Given the description of an element on the screen output the (x, y) to click on. 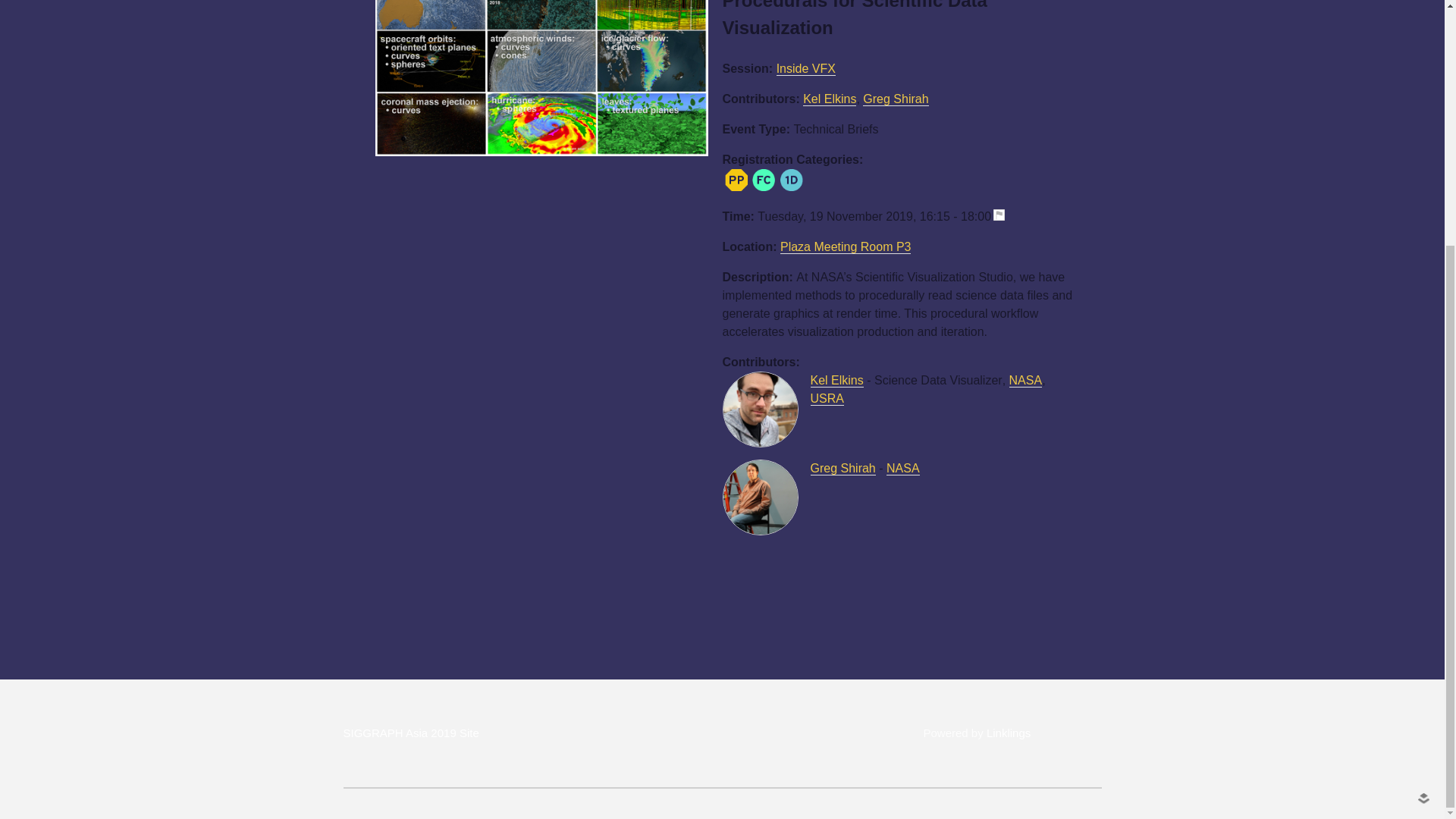
Greg Shirah (895, 99)
Kel Elkins (829, 99)
SIGGRAPH Asia 2019 Site (410, 732)
Greg Shirah (842, 468)
NASA (1025, 380)
People with a Full Conference Pass can attend (763, 179)
Inside VFX (805, 69)
NASA (903, 468)
Plaza Meeting Room P3 (845, 246)
add to Flagged (1004, 217)
Linklings (1008, 732)
USRA (826, 398)
Kel Elkins (836, 380)
People with a Platinum Pass can attend (735, 179)
